Given the description of an element on the screen output the (x, y) to click on. 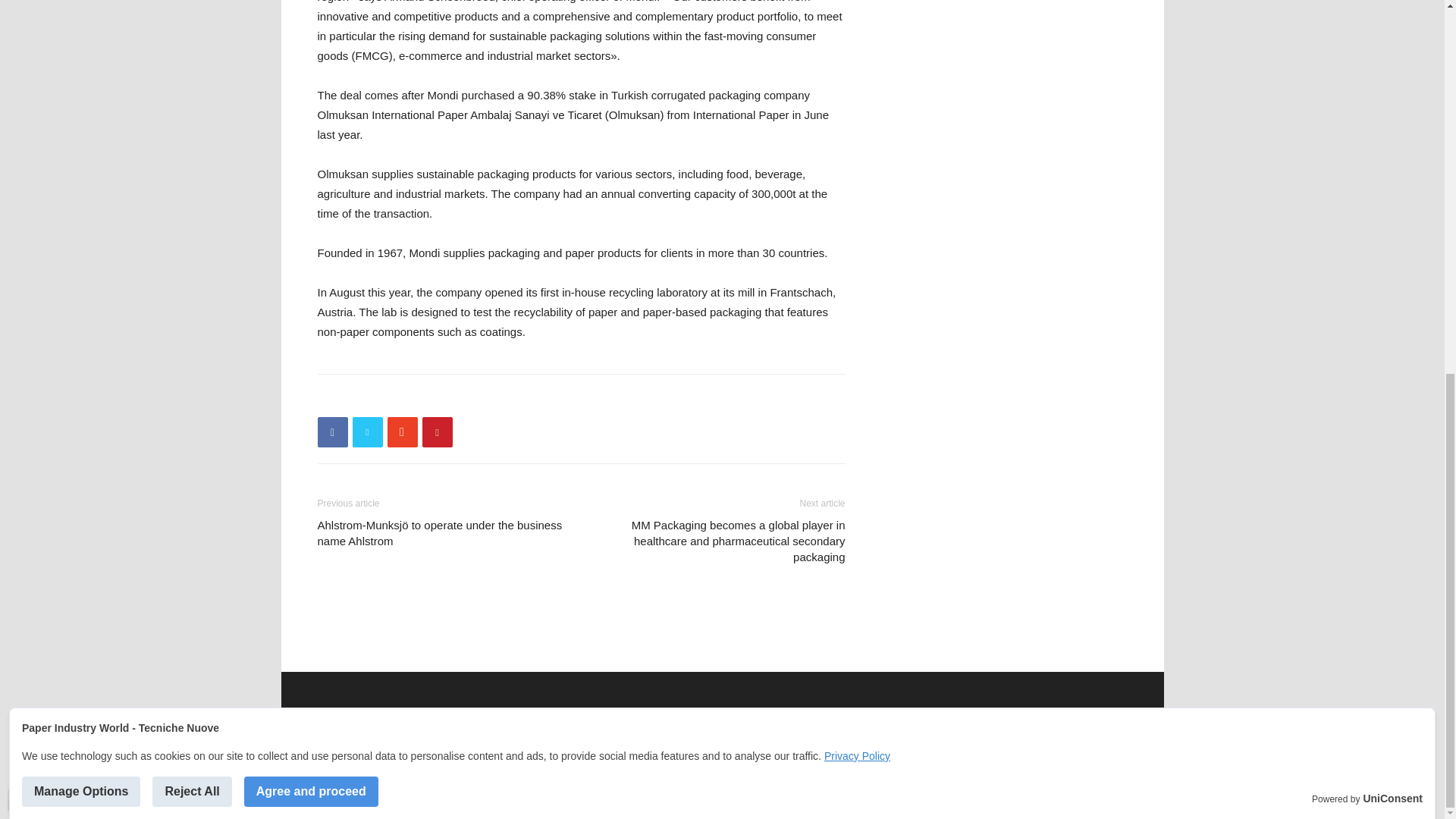
UniConsent Consent Manager (1392, 113)
Manage Options (80, 105)
Agree and proceed (311, 105)
Privacy Policy (856, 70)
UniConsent (1392, 113)
Reject All (191, 105)
Manage Consent (18, 114)
